Given the description of an element on the screen output the (x, y) to click on. 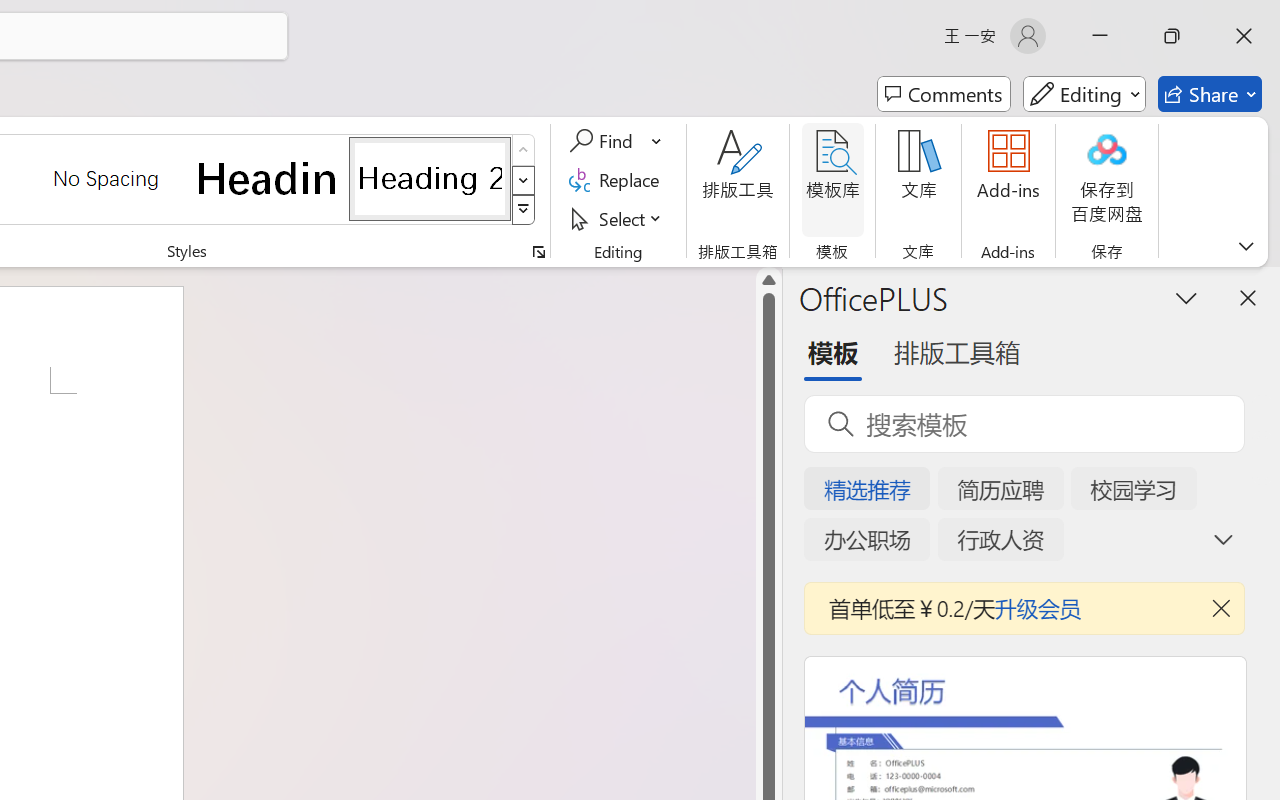
Find (616, 141)
Close (1244, 36)
Select (618, 218)
Comments (943, 94)
Heading 2 (429, 178)
Mode (1083, 94)
Line up (769, 279)
